Given the description of an element on the screen output the (x, y) to click on. 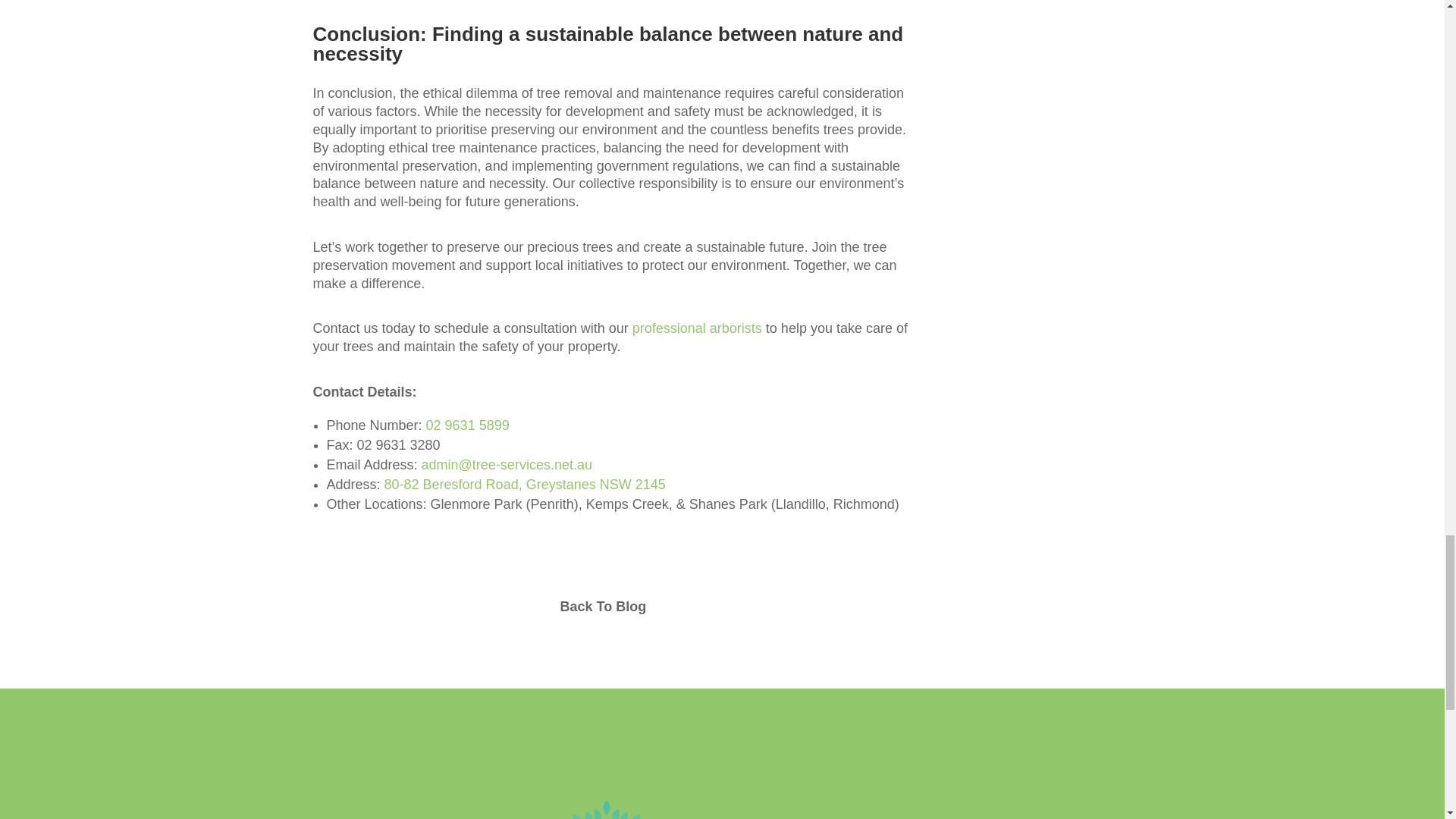
02 9631 5899 (467, 425)
80-82 Beresford Road, Greystanes NSW 2145 (524, 484)
professional arborists (696, 328)
BFTS Footer Logo (721, 809)
